Given the description of an element on the screen output the (x, y) to click on. 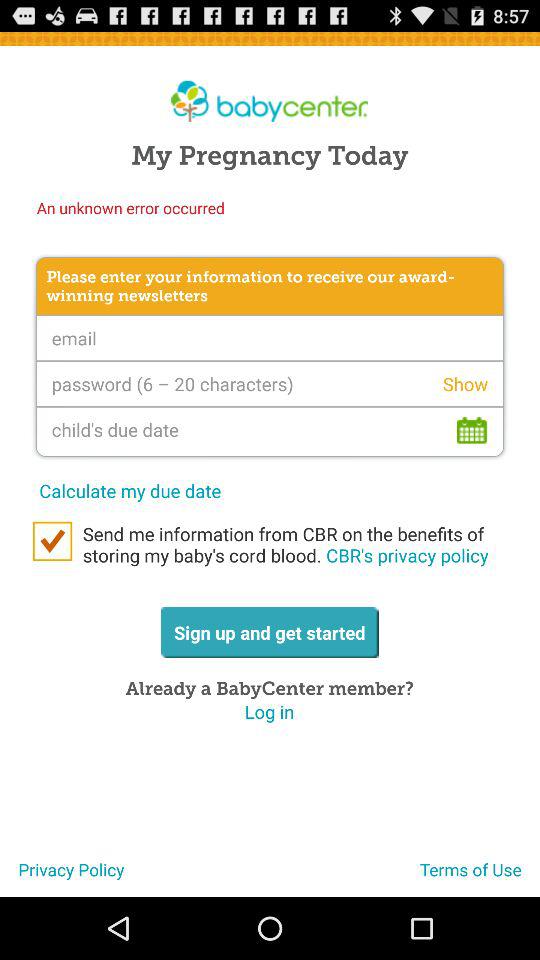
acceptation space (52, 541)
